Given the description of an element on the screen output the (x, y) to click on. 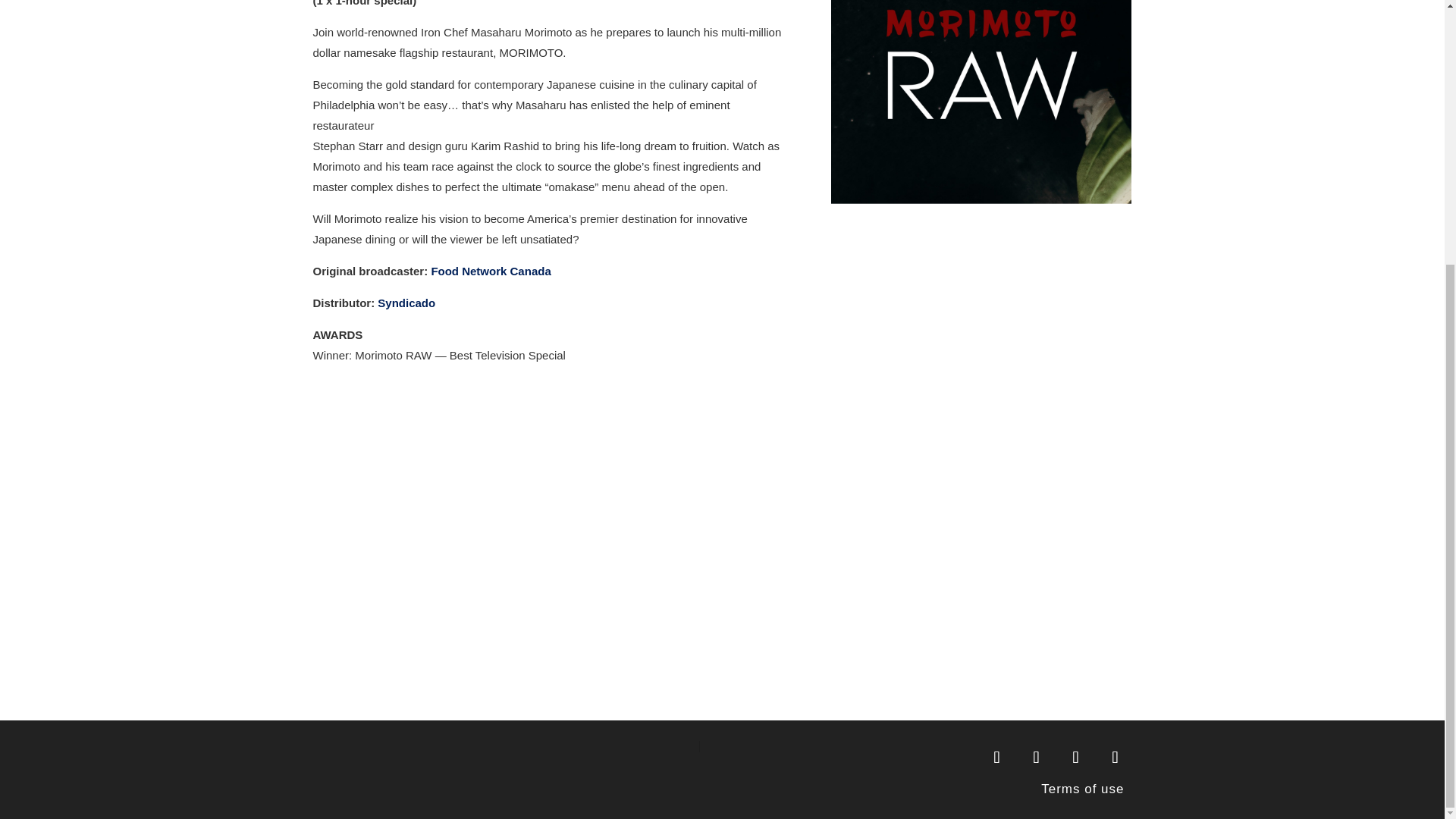
Terms of use (1082, 789)
Follow on Instagram (1114, 757)
Food Network Canada (490, 270)
Follow on X (1075, 757)
Websites.ca Directory (996, 757)
Follow on Facebook (1035, 757)
Syndicado (406, 302)
